Given the description of an element on the screen output the (x, y) to click on. 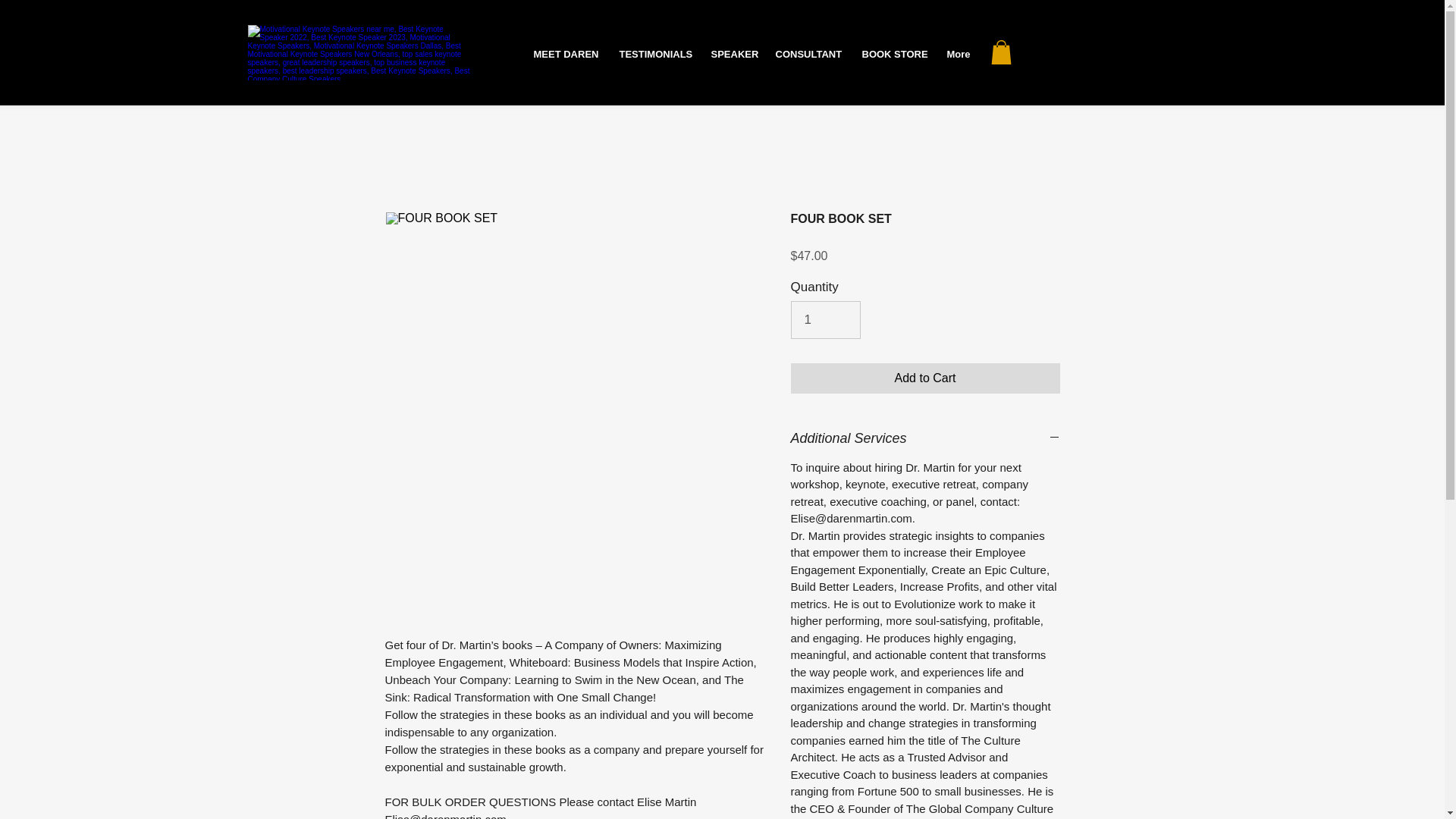
CONSULTANT (807, 54)
Add to Cart (924, 378)
SPEAKER (730, 54)
MEET DAREN (564, 54)
TESTIMONIALS (654, 54)
Additional Services (924, 437)
1 (825, 319)
BOOK STORE (893, 54)
